Given the description of an element on the screen output the (x, y) to click on. 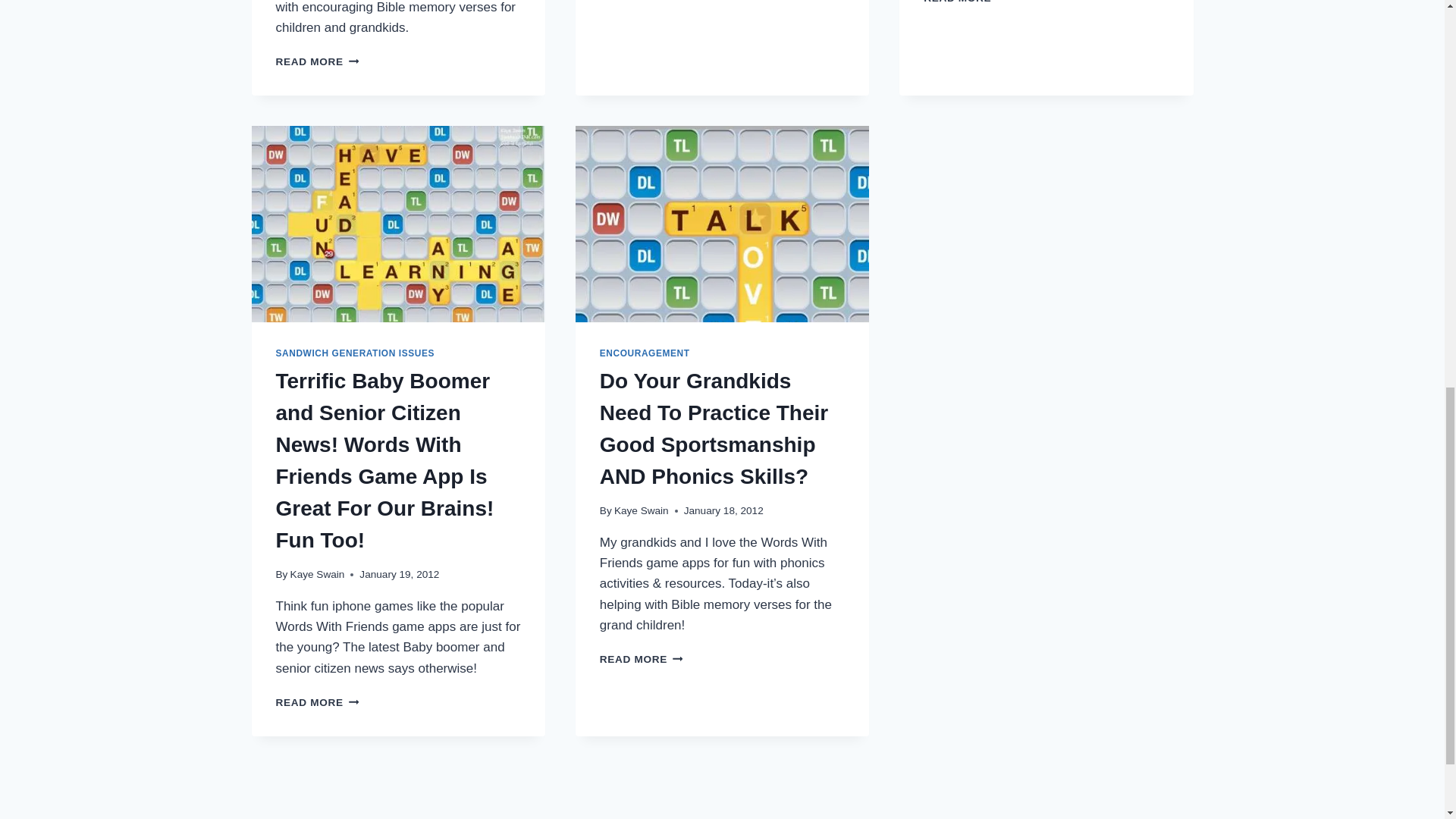
Kaye Swain (317, 573)
Kaye Swain (641, 510)
SANDWICH GENERATION ISSUES (354, 353)
ENCOURAGEMENT (644, 353)
